Given the description of an element on the screen output the (x, y) to click on. 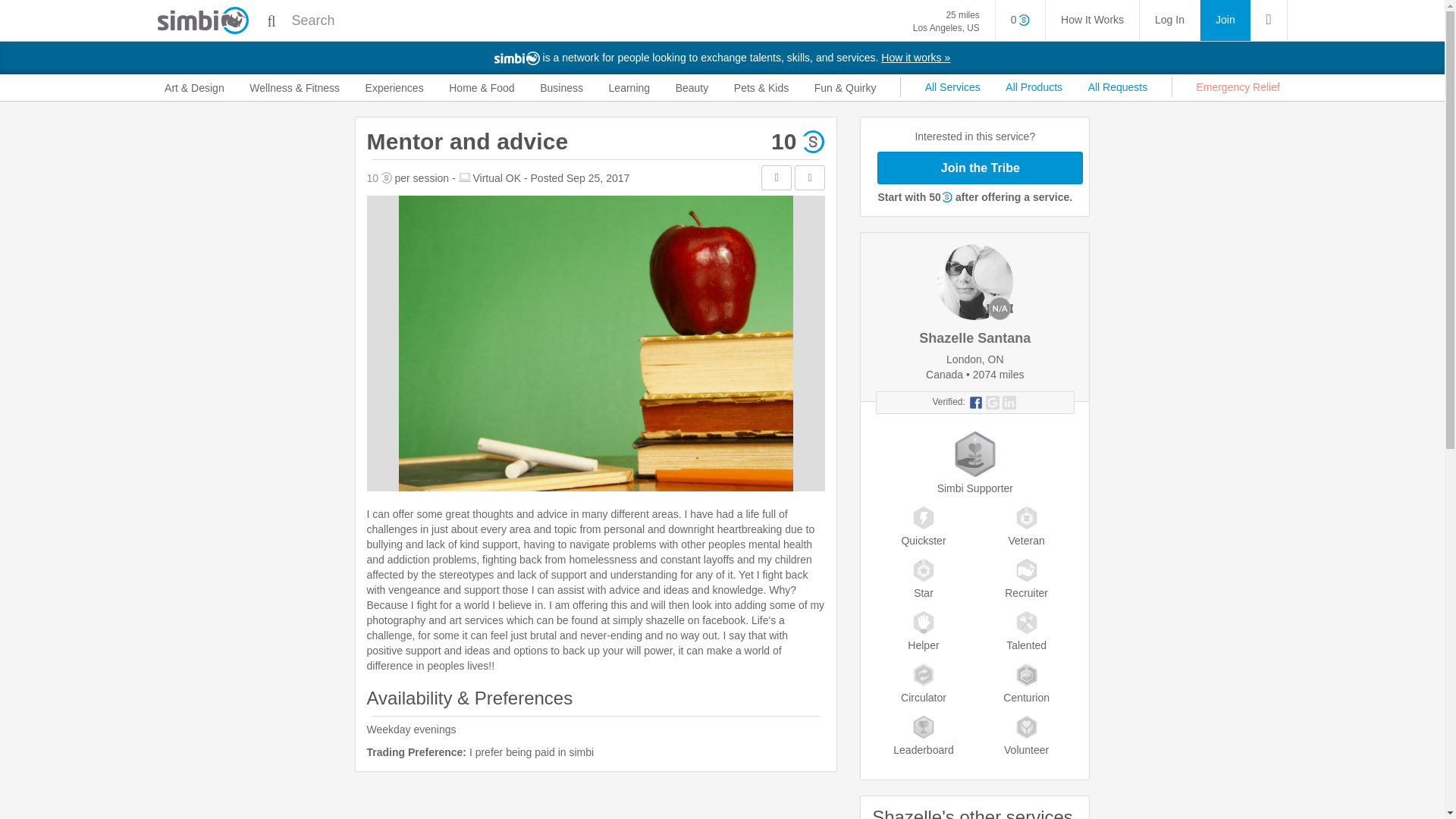
How It Works (1091, 20)
0 (1020, 20)
Join (945, 22)
Log In (1224, 20)
